Given the description of an element on the screen output the (x, y) to click on. 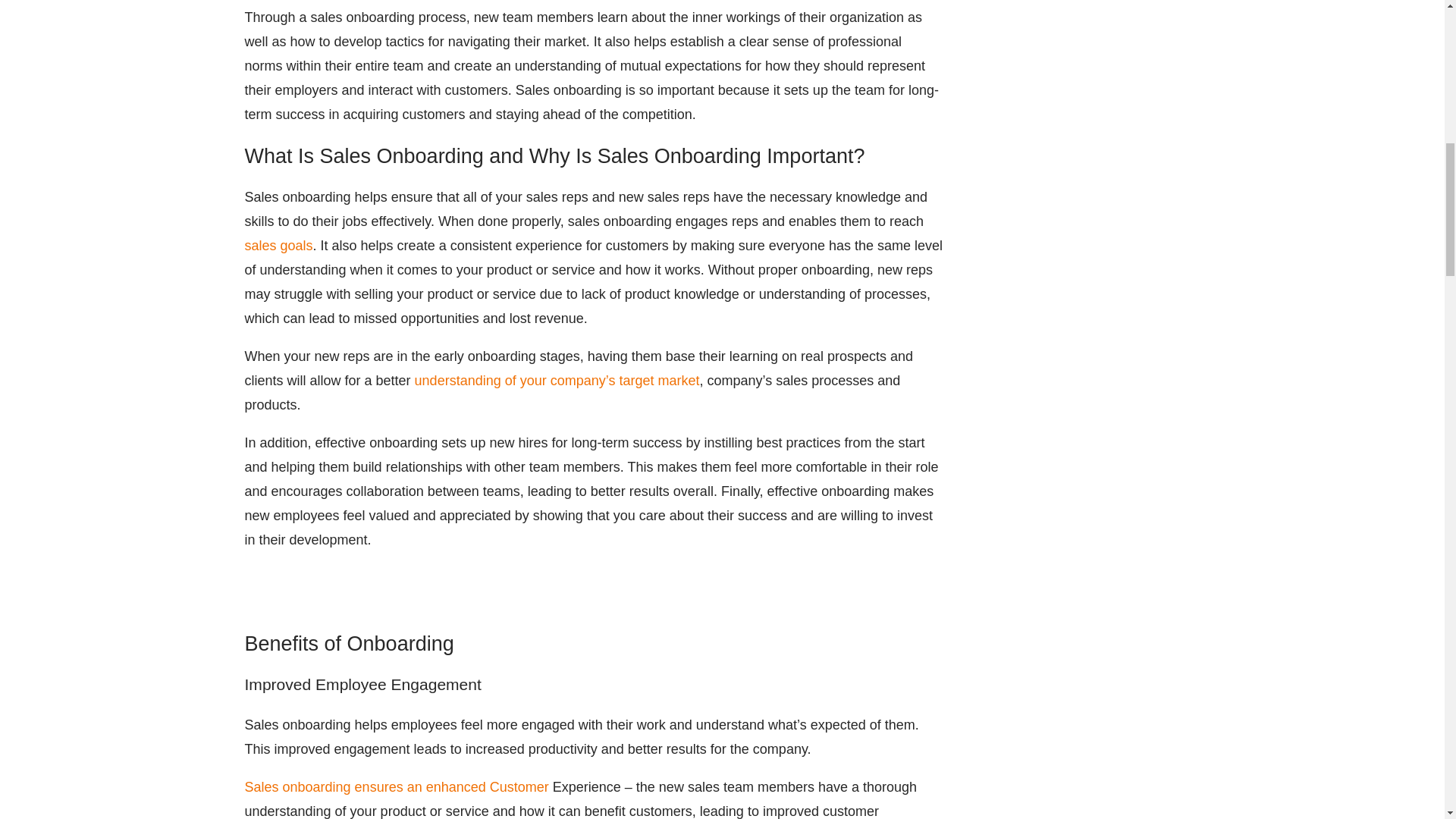
Sales onboarding ensures an enhanced Customer (396, 786)
sales goals (278, 245)
